Given the description of an element on the screen output the (x, y) to click on. 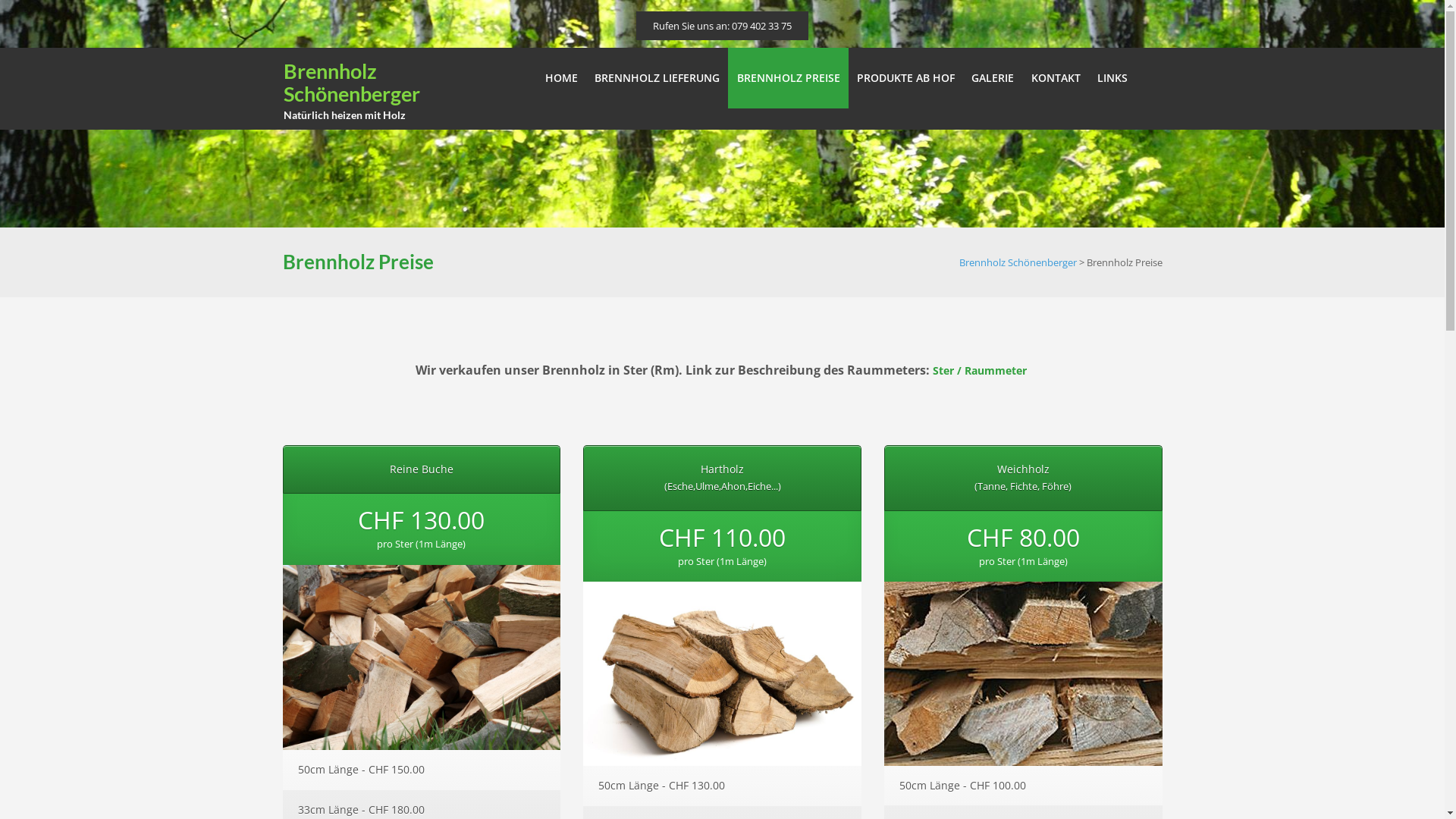
KONTAKT Element type: text (1055, 77)
BRENNHOLZ PREISE Element type: text (787, 77)
LINKS Element type: text (1111, 77)
Ster / Raummeter Element type: text (979, 370)
BRENNHOLZ LIEFERUNG Element type: text (657, 77)
PRODUKTE AB HOF Element type: text (905, 77)
HOME Element type: text (561, 77)
GALERIE Element type: text (992, 77)
